Given the description of an element on the screen output the (x, y) to click on. 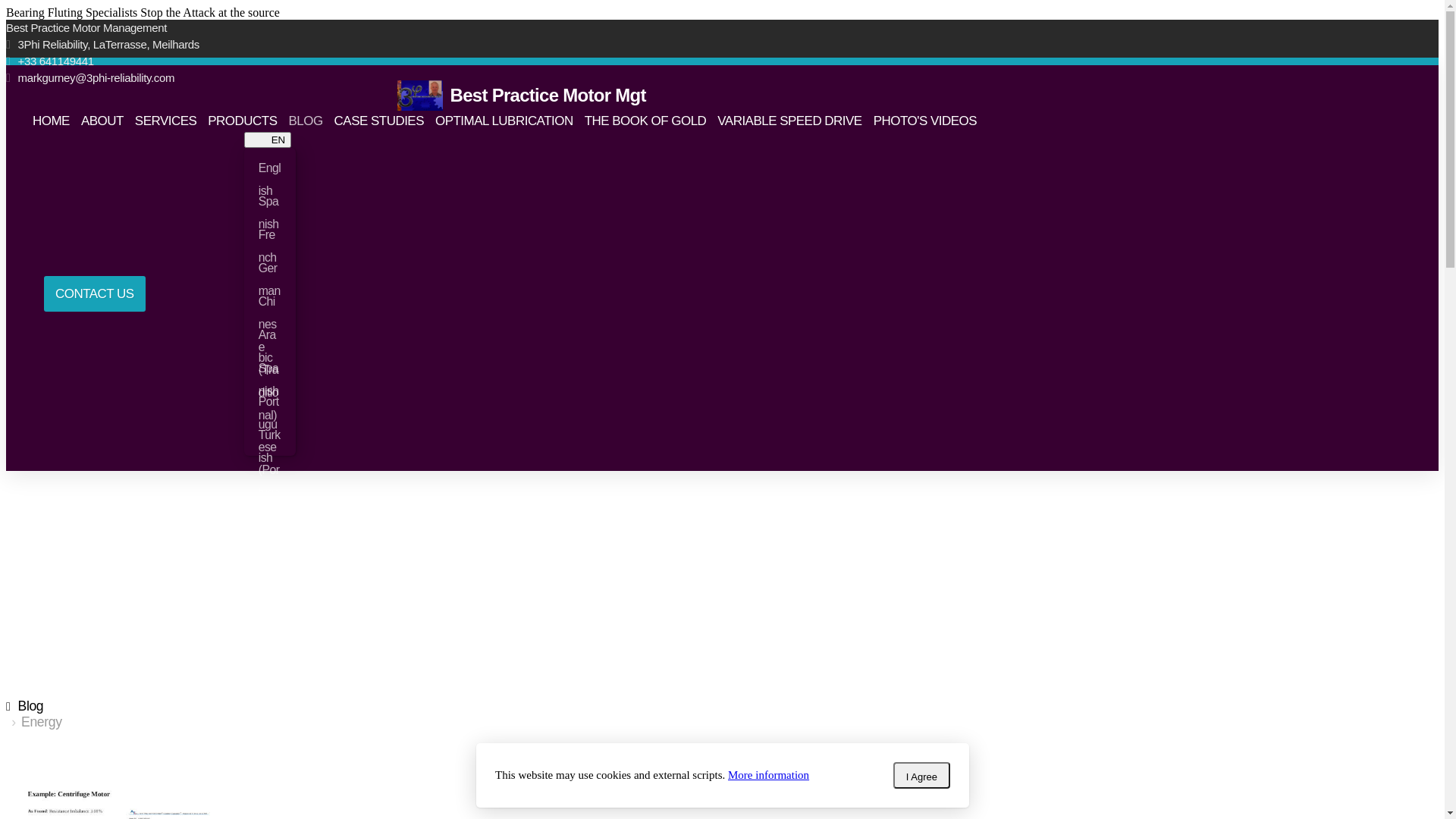
THE BOOK OF GOLD Element type: text (645, 120)
More information Element type: text (768, 774)
Blog Element type: text (24, 705)
Spanish Element type: text (269, 368)
Portuguese (Portugal) Element type: text (269, 401)
Spanish Element type: text (269, 201)
HOME Element type: text (50, 120)
Arabic Element type: text (269, 334)
EN Element type: text (267, 139)
3Phi Reliability, LaTerrasse, Meilhards Element type: text (498, 44)
BLOG Element type: text (305, 120)
ABOUT Element type: text (102, 120)
PRODUCTS Element type: text (241, 120)
CASE STUDIES Element type: text (378, 120)
Chinese (Traditional) Element type: text (269, 301)
OPTIMAL LUBRICATION Element type: text (504, 120)
+33 641149441 Element type: text (498, 61)
VARIABLE SPEED DRIVE Element type: text (789, 120)
Turkish Element type: text (269, 434)
CONTACT US Element type: text (94, 293)
SERVICES Element type: text (165, 120)
markgurney@3phi-reliability.com Element type: text (498, 77)
PHOTO'S VIDEOS Element type: text (924, 120)
Best Practice Motor Mgt Element type: text (521, 95)
I Agree Element type: text (920, 775)
German Element type: text (269, 268)
French Element type: text (269, 234)
English Element type: text (269, 168)
